Given the description of an element on the screen output the (x, y) to click on. 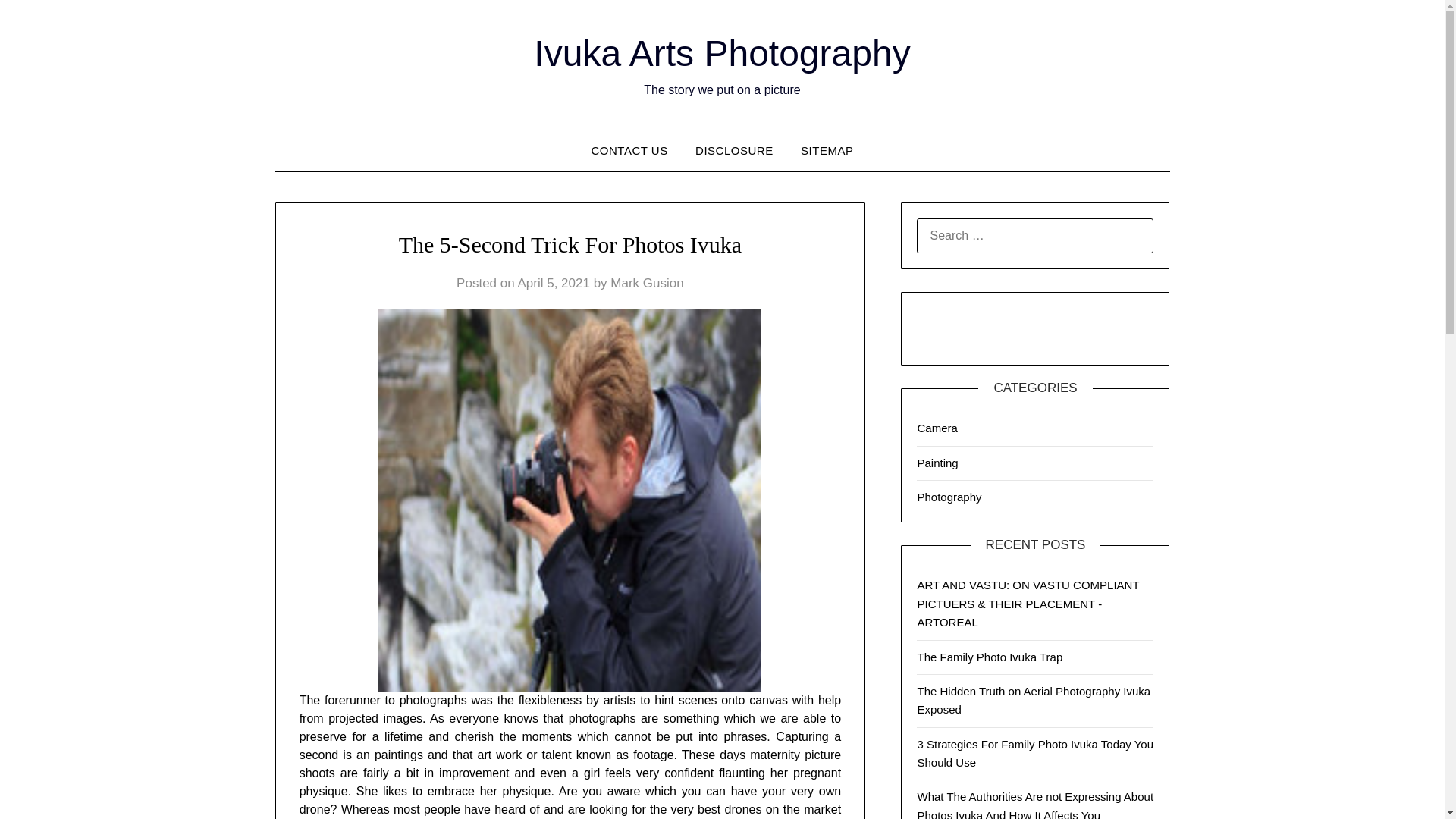
SITEMAP (826, 150)
3 Strategies For Family Photo Ivuka Today You Should Use (1035, 753)
Mark Gusion (646, 283)
DISCLOSURE (734, 150)
Photography (949, 496)
Ivuka Arts Photography (722, 53)
CONTACT US (629, 150)
Search (38, 22)
Camera (936, 427)
April 5, 2021 (552, 283)
